Given the description of an element on the screen output the (x, y) to click on. 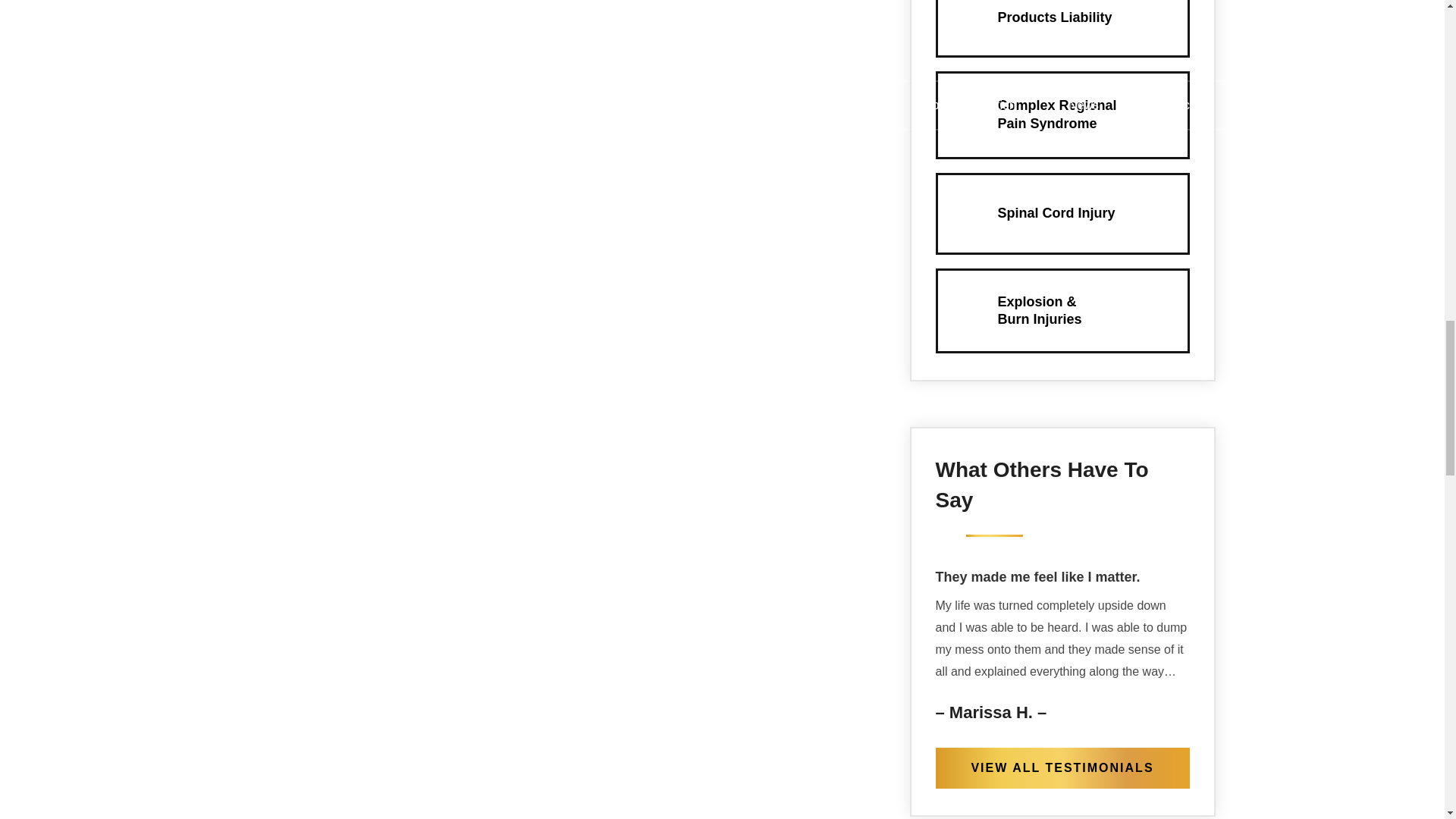
Products Liability (1061, 27)
